Given the description of an element on the screen output the (x, y) to click on. 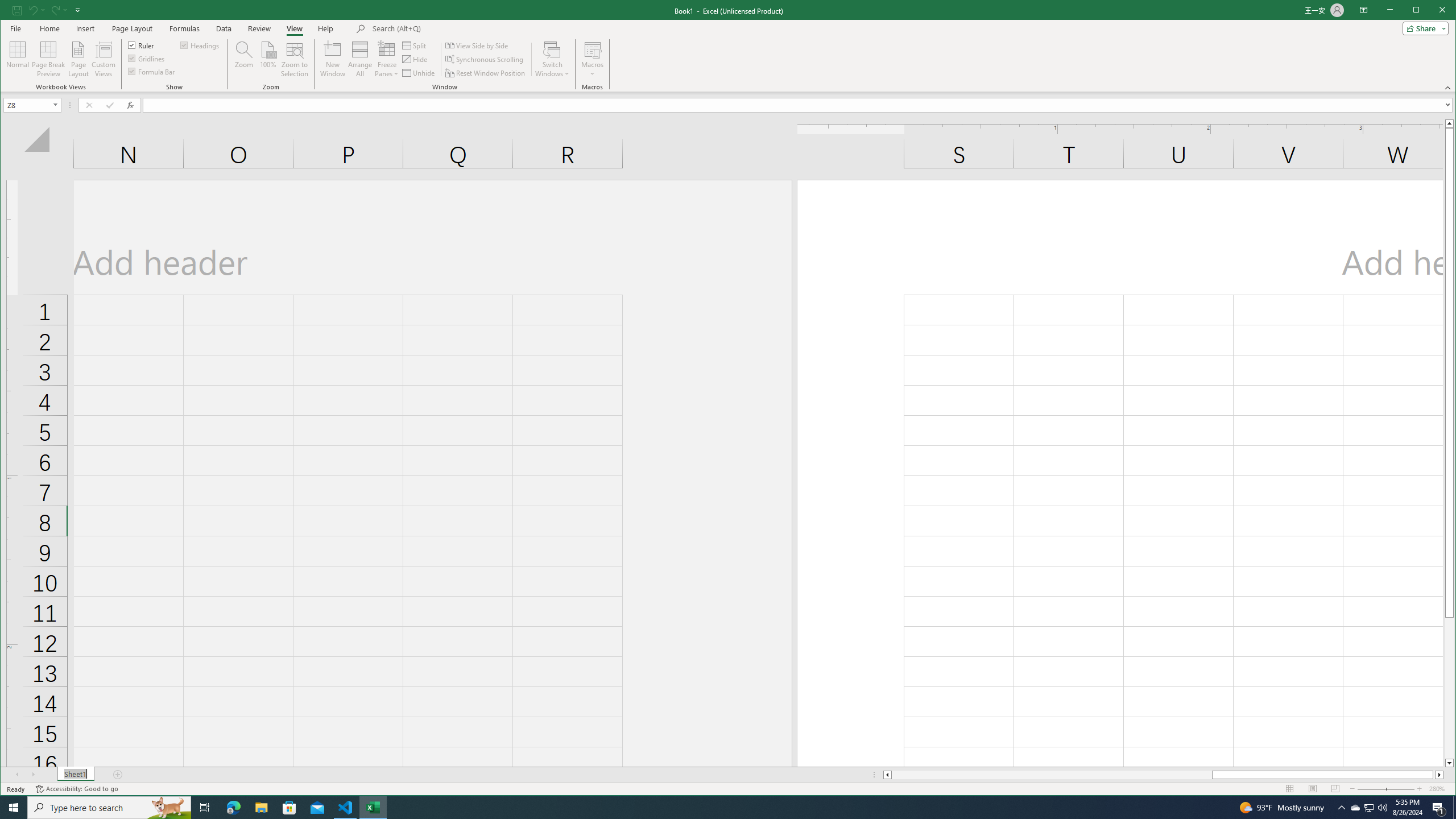
Visual Studio Code - 1 running window (345, 807)
